Given the description of an element on the screen output the (x, y) to click on. 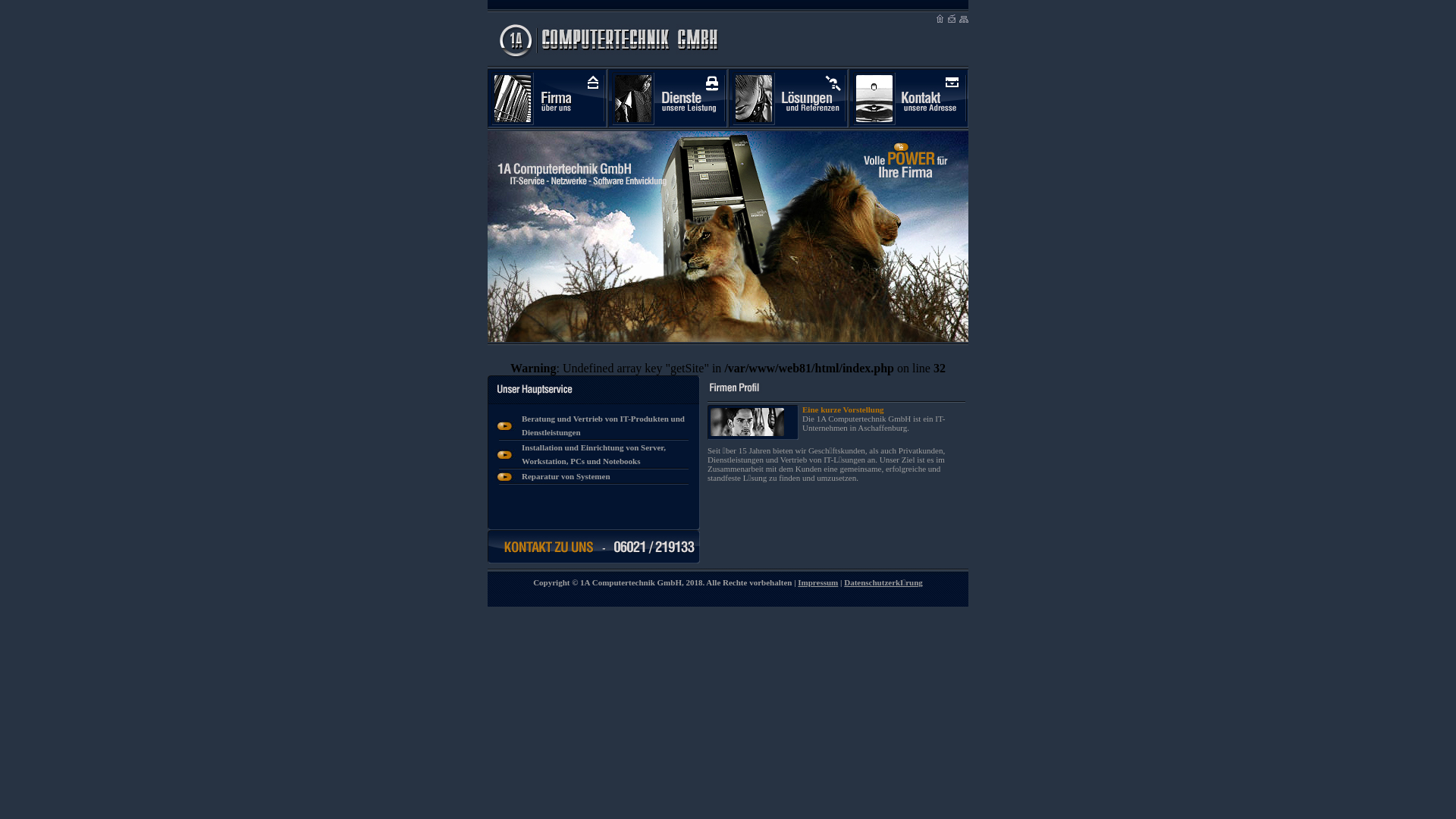
Impressum Element type: text (817, 581)
